Given the description of an element on the screen output the (x, y) to click on. 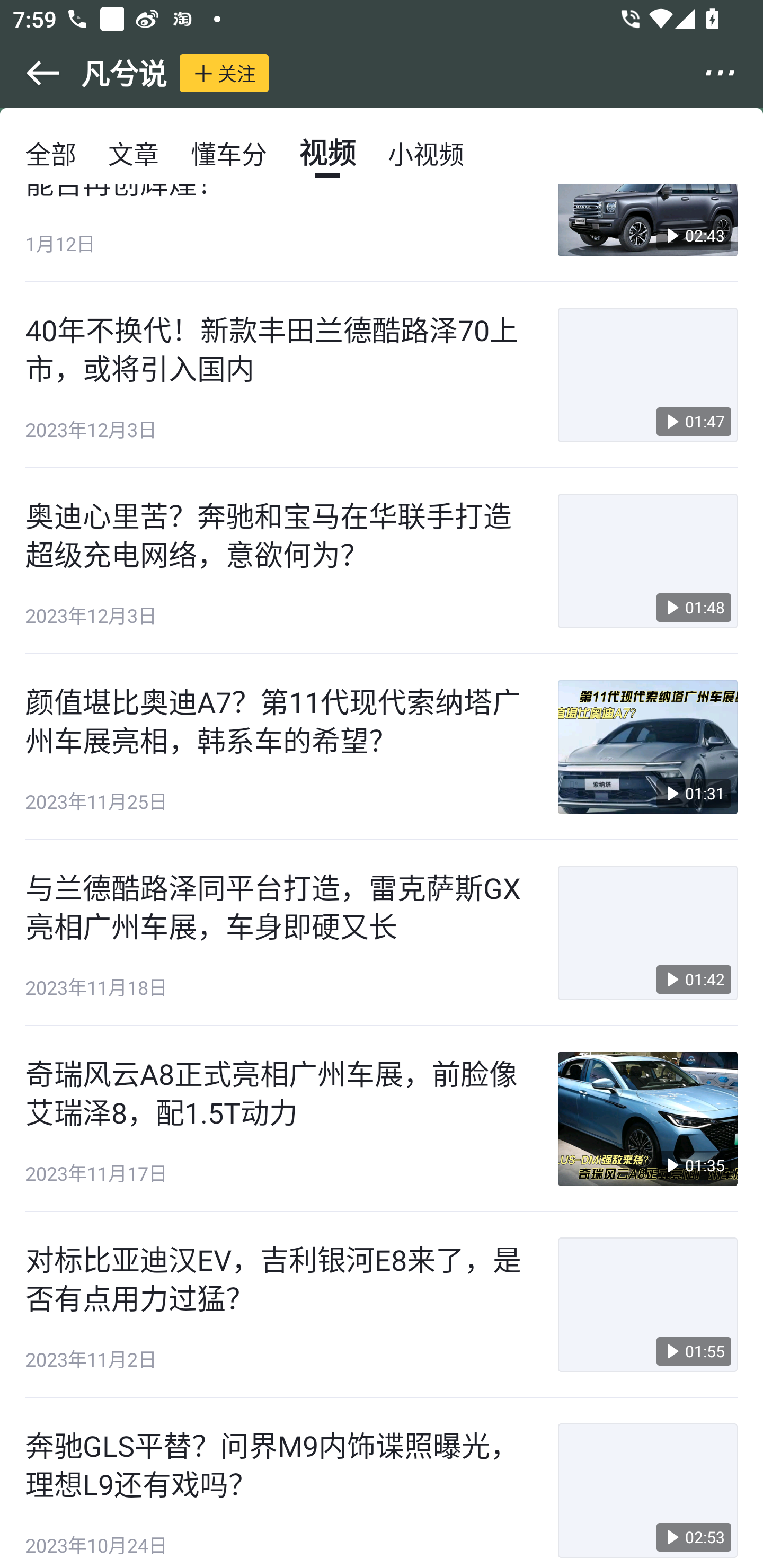
 (30, 72)
 (732, 72)
 关注 (223, 72)
全部 (50, 152)
文章 (133, 152)
懂车分 (228, 152)
视频 (327, 152)
小视频 (425, 152)
40年不换代！新款丰田兰德酷路泽70上市，或将引入国内 2023年12月3日  01:47 (381, 375)
奥迪心里苦？奔驰和宝马在华联手打造超级充电网络，意欲何为？ 2023年12月3日  01:48 (381, 560)
奇瑞风云A8正式亮相广州车展，前脸像艾瑞泽8，配1.5T动力 2023年11月17日  01:35 (381, 1118)
对标比亚迪汉EV，吉利银河E8来了，是否有点用力过猛？ 2023年11月2日  01:55 (381, 1305)
奔驰GLS平替？问界M9内饰谍照曝光，理想L9还有戏吗？ 2023年10月24日  02:53 (381, 1483)
